Given the description of an element on the screen output the (x, y) to click on. 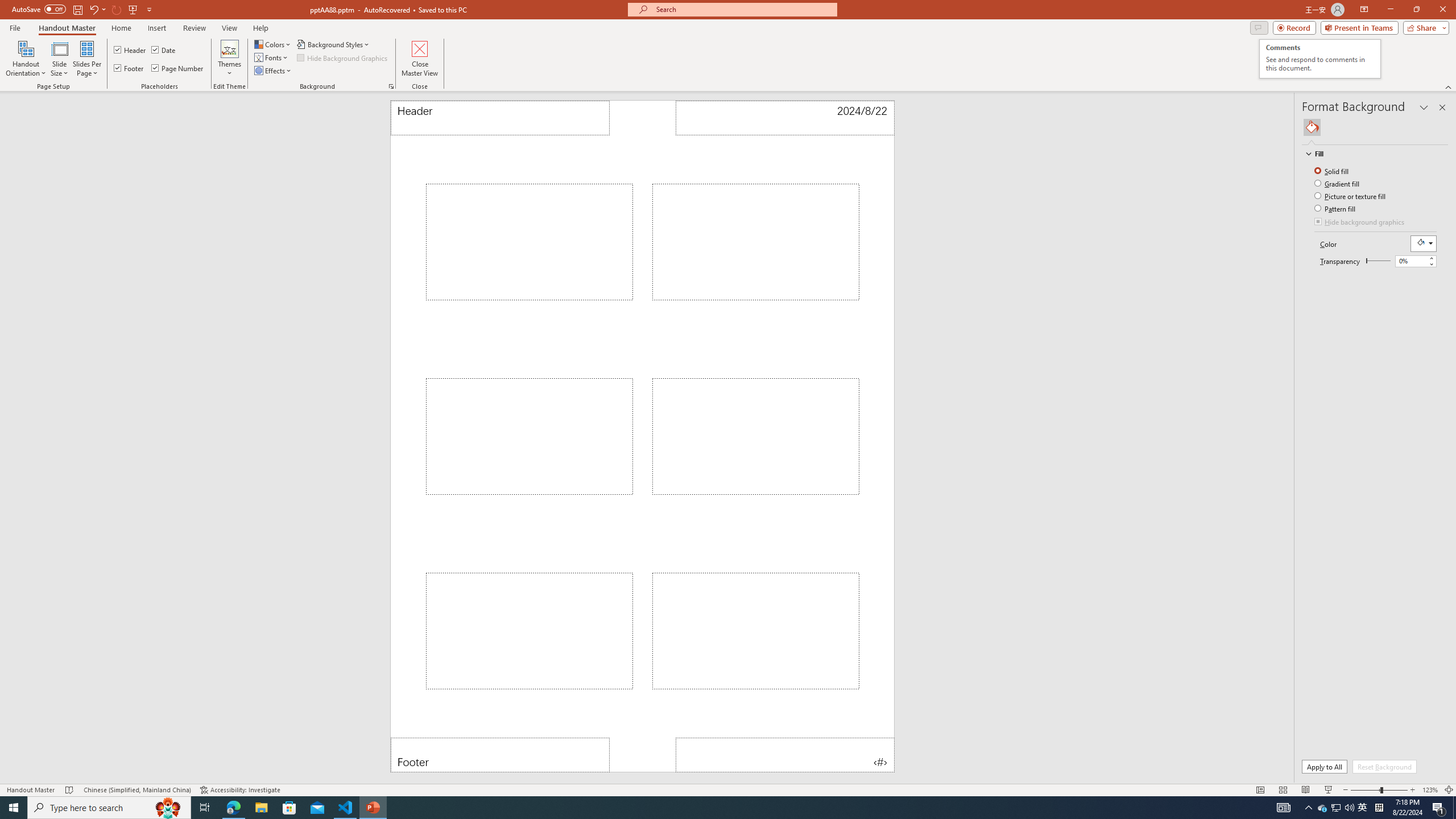
Format Background... (391, 85)
Page Number (177, 67)
Class: NetUIGalleryContainer (1319, 58)
Background Styles (1375, 126)
Footer (333, 44)
Fill (500, 754)
Fill (1311, 126)
Header (1370, 153)
